Given the description of an element on the screen output the (x, y) to click on. 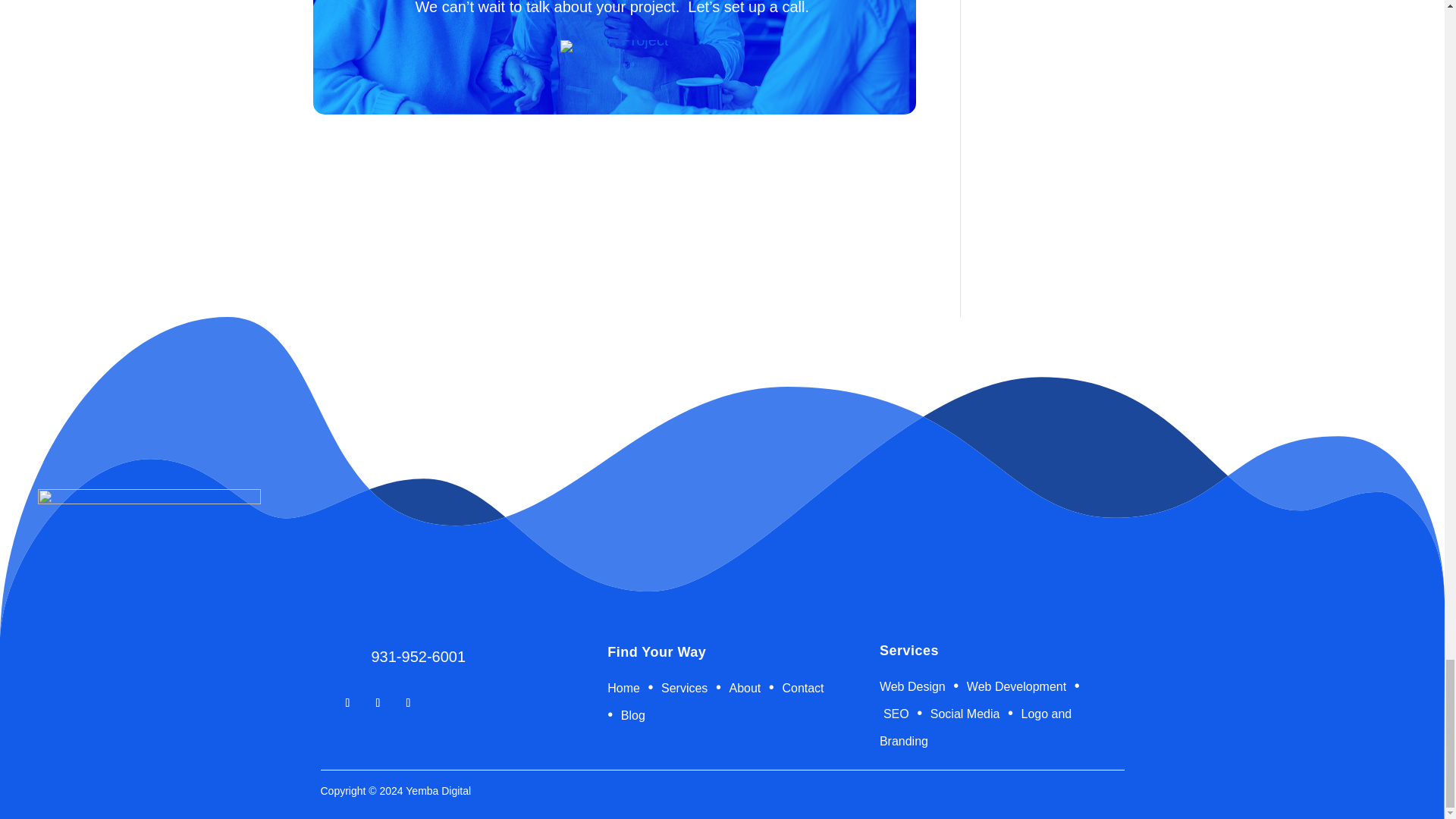
About (744, 687)
YembaDigital white logo (148, 545)
Home (625, 687)
Follow on Instagram (377, 702)
Follow on Facebook (346, 702)
Web Design (914, 686)
Follow on X (408, 702)
Services (684, 687)
Web Development (1016, 686)
START A PROJECT button (614, 46)
Blog (633, 715)
SEO (895, 713)
Contact (802, 687)
